Given the description of an element on the screen output the (x, y) to click on. 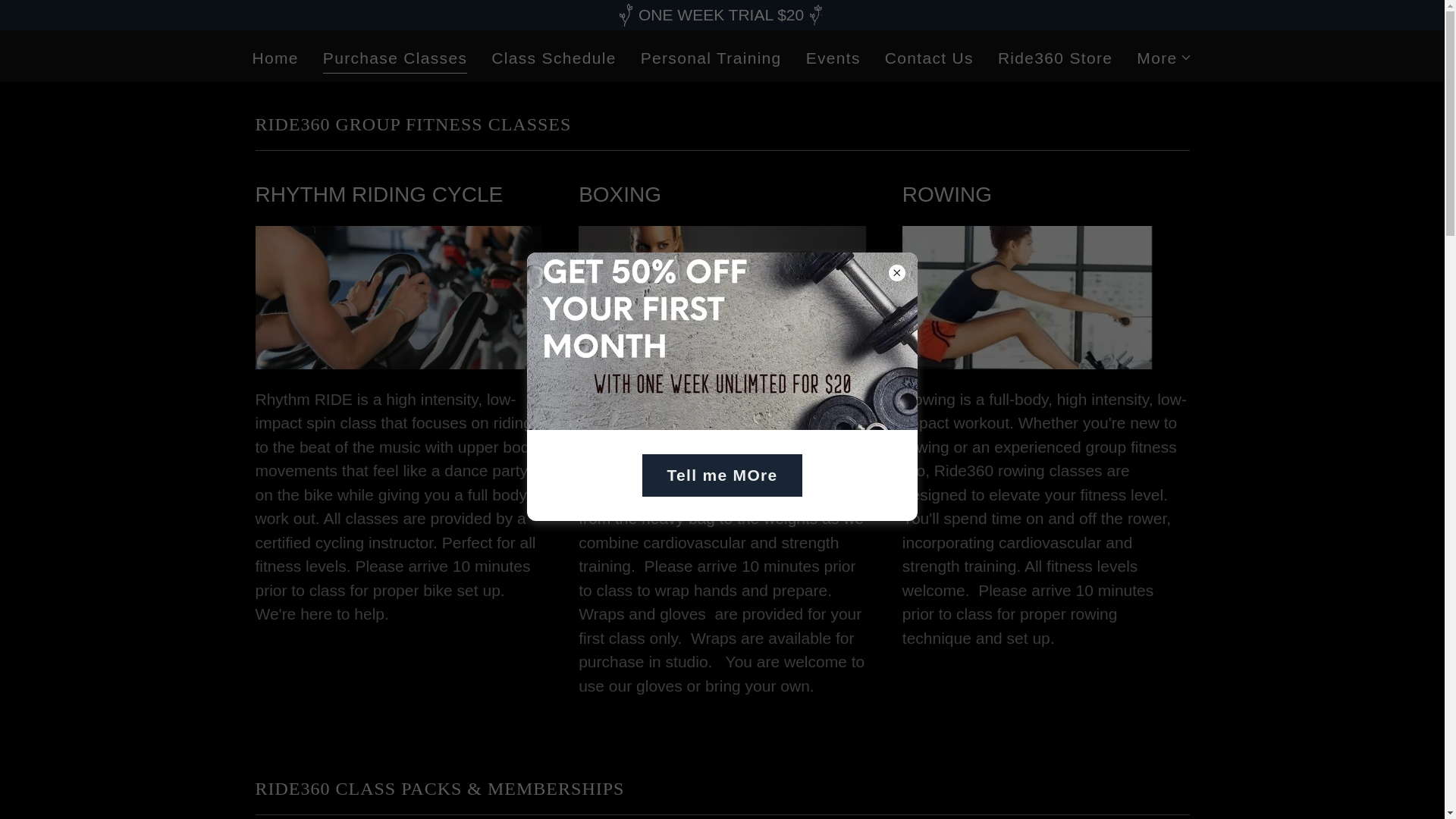
Ride360 Store (1054, 57)
Personal Training (711, 57)
Purchase Classes (395, 59)
Events (833, 57)
More (1164, 57)
Class Schedule (553, 57)
Contact Us (929, 57)
Home (274, 57)
